Given the description of an element on the screen output the (x, y) to click on. 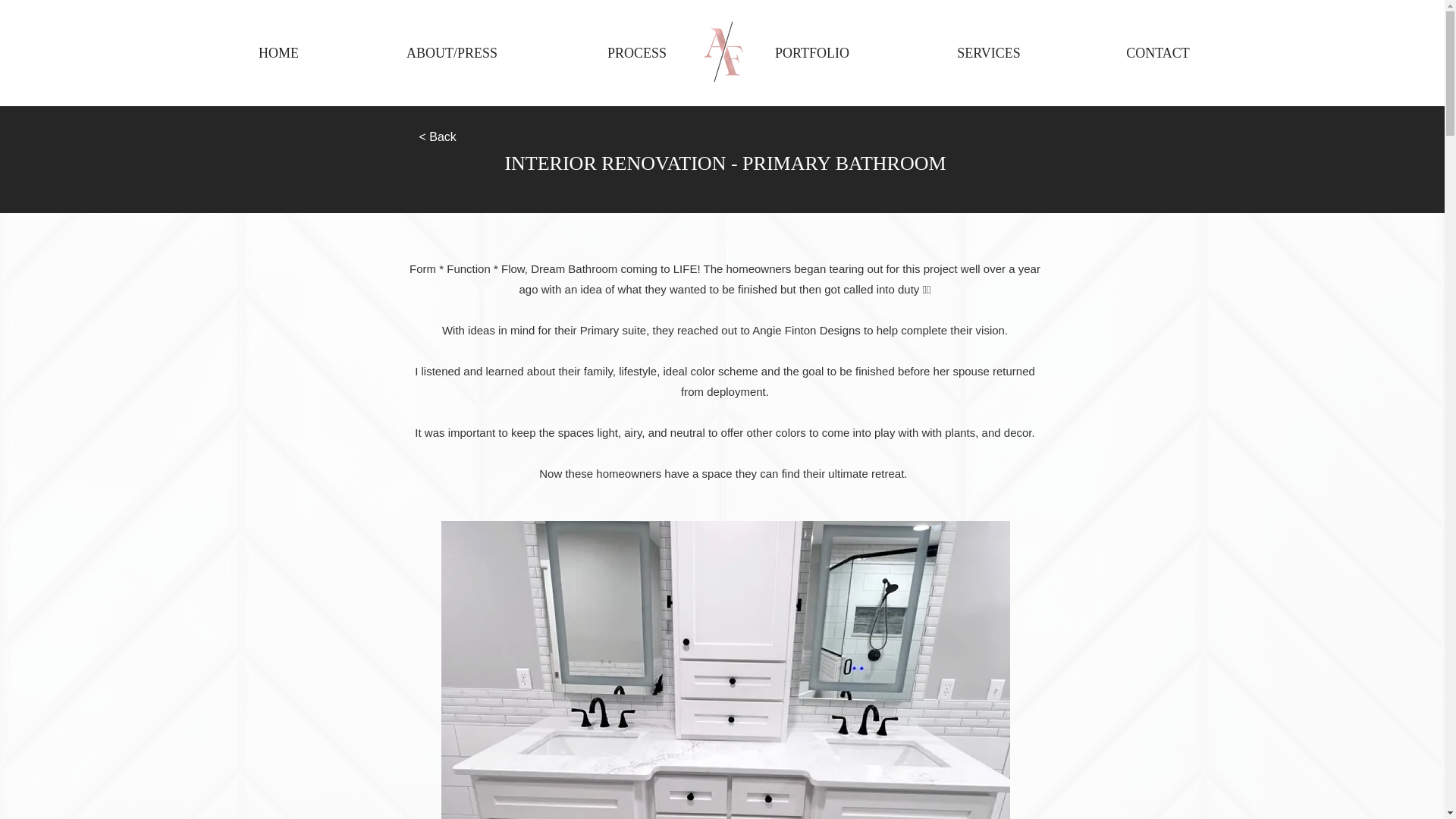
HOME (278, 53)
CONTACT (1157, 53)
PROCESS (636, 53)
SERVICES (989, 53)
PORTFOLIO (811, 53)
